Given the description of an element on the screen output the (x, y) to click on. 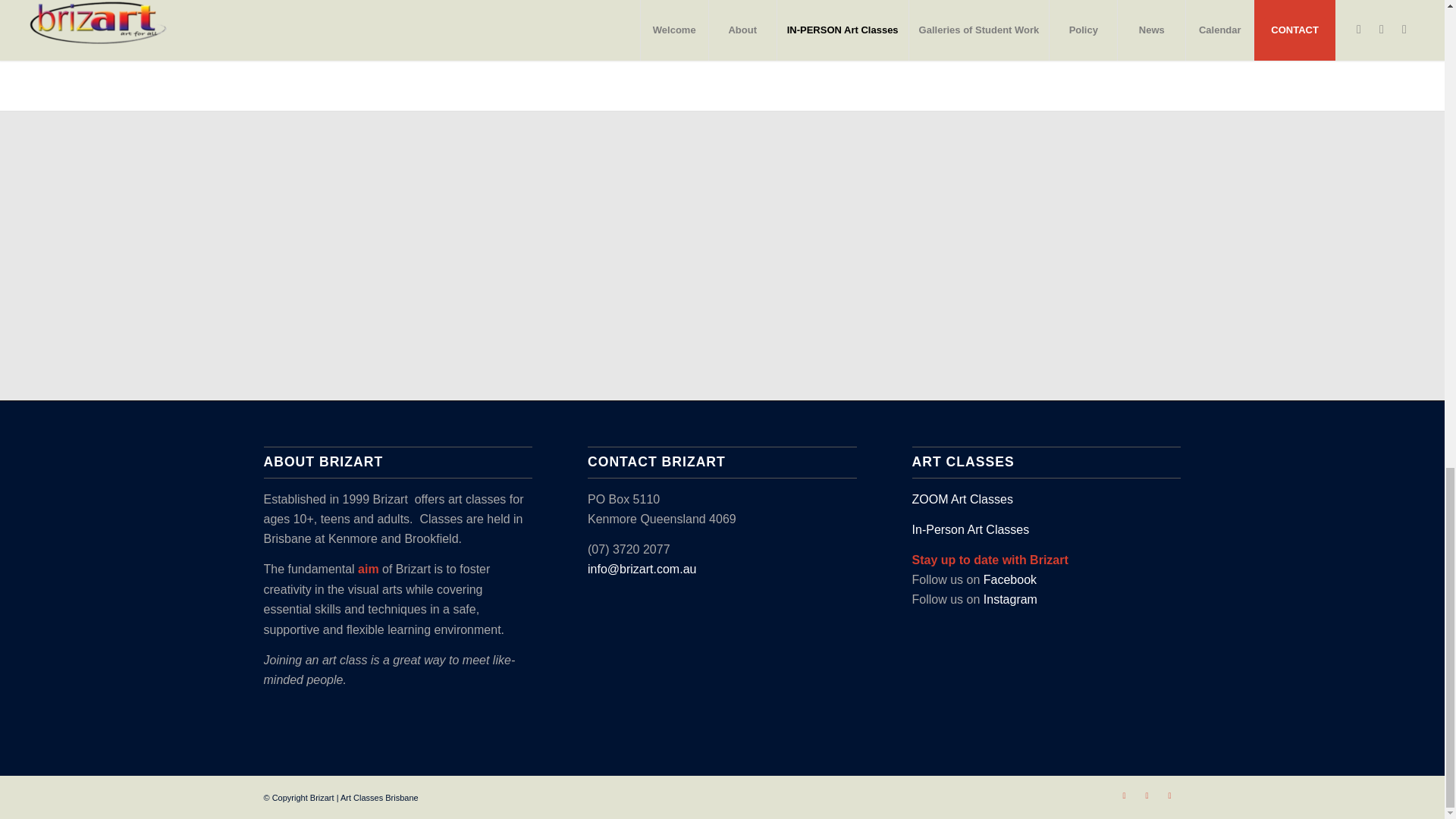
Facebook (1124, 794)
Mail (1169, 794)
ZOOM Art Classes (962, 499)
Instagram (1146, 794)
Facebook (1010, 579)
In-Person Art Classes (970, 529)
